Given the description of an element on the screen output the (x, y) to click on. 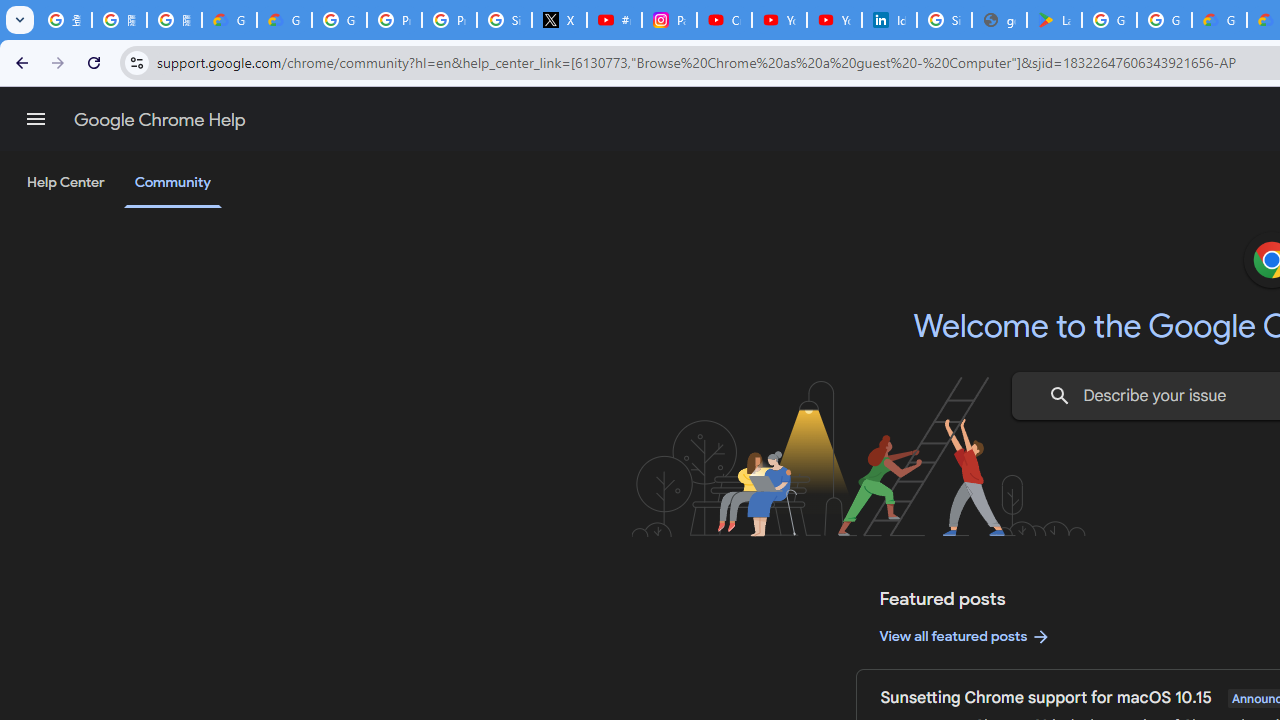
Google Cloud Privacy Notice (229, 20)
Google Cloud Privacy Notice (284, 20)
Privacy Help Center - Policies Help (449, 20)
Google Chrome Help (159, 119)
Last Shelter: Survival - Apps on Google Play (1053, 20)
#nbabasketballhighlights - YouTube (614, 20)
View all featured posts (965, 636)
